Given the description of an element on the screen output the (x, y) to click on. 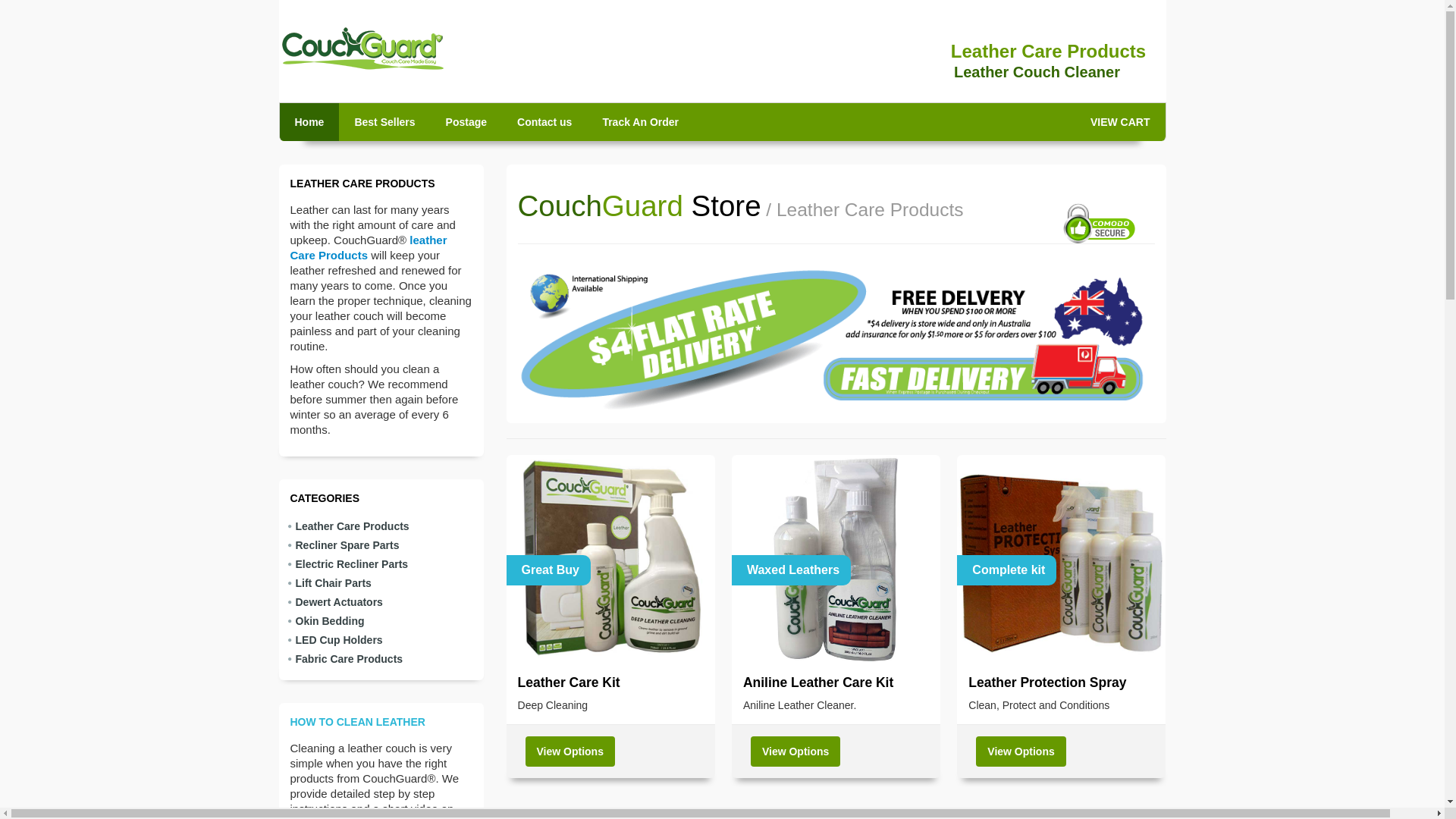
CouchGuard Element type: hover (362, 48)
Leather Care Products Element type: text (1047, 50)
Waxed Leathers Element type: text (835, 559)
Leather Care Products Element type: text (386, 526)
Dewert Actuators Element type: text (386, 602)
Great Buy Element type: text (610, 559)
Postage Element type: text (466, 122)
Best Sellers Element type: text (383, 122)
HOW TO CLEAN LEATHER Element type: text (356, 721)
Okin Bedding Element type: text (386, 620)
Fabric Care Products Element type: text (386, 658)
View Options Element type: text (1020, 751)
Track An Order Element type: text (639, 122)
Recliner Spare Parts Element type: text (386, 545)
LED Cup Holders Element type: text (386, 639)
View Options Element type: text (795, 751)
VIEW CART Element type: text (1120, 122)
Contact us Element type: text (544, 122)
Home Element type: text (308, 122)
Leather Couch Cleaner Element type: text (1036, 71)
View Options Element type: text (570, 751)
Lift Chair Parts Element type: text (386, 583)
leather Care Products Element type: text (367, 247)
Electric Recliner Parts Element type: text (386, 564)
Complete kit Element type: text (1061, 559)
